Given the description of an element on the screen output the (x, y) to click on. 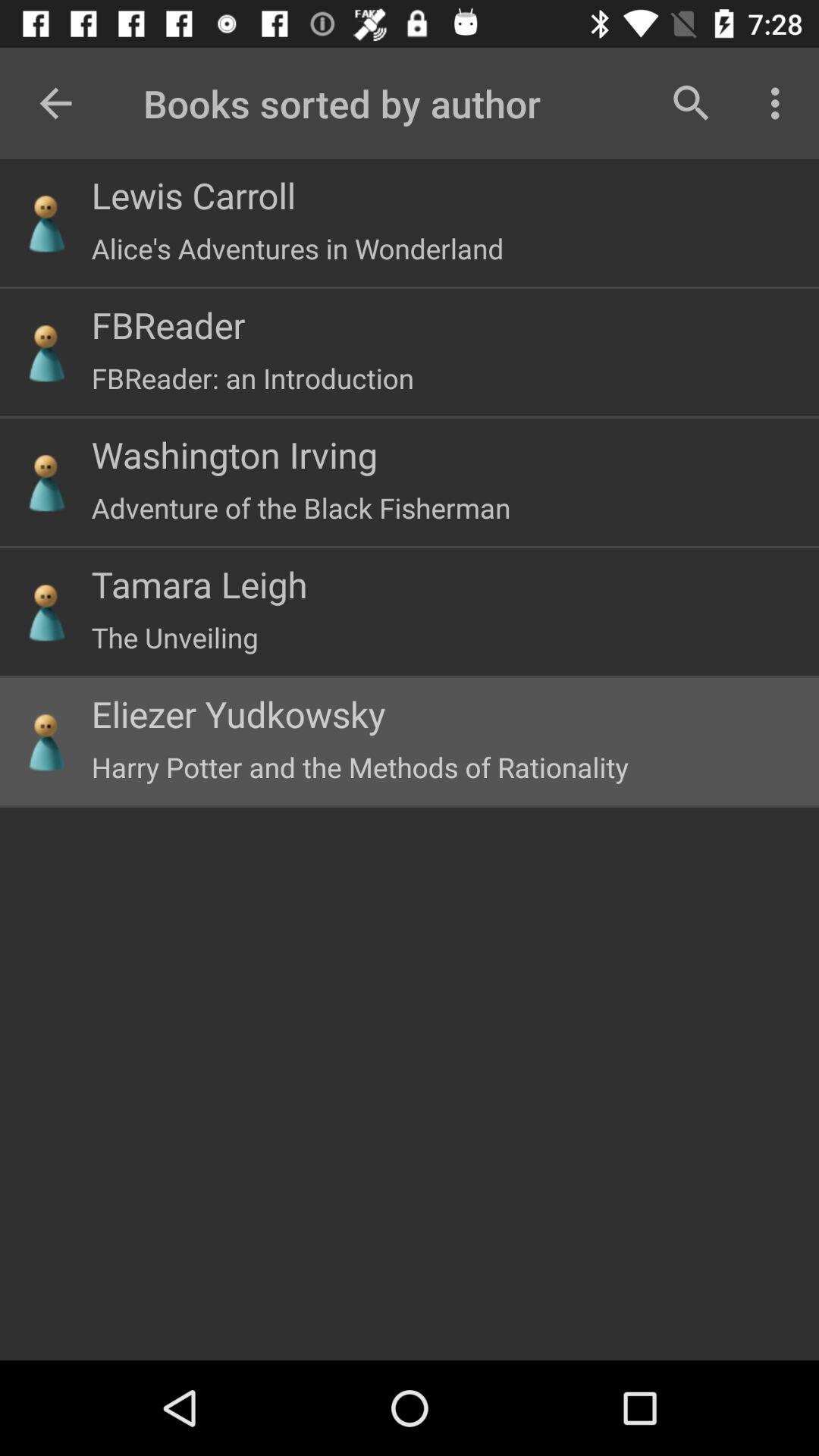
scroll to the unveiling (174, 637)
